Given the description of an element on the screen output the (x, y) to click on. 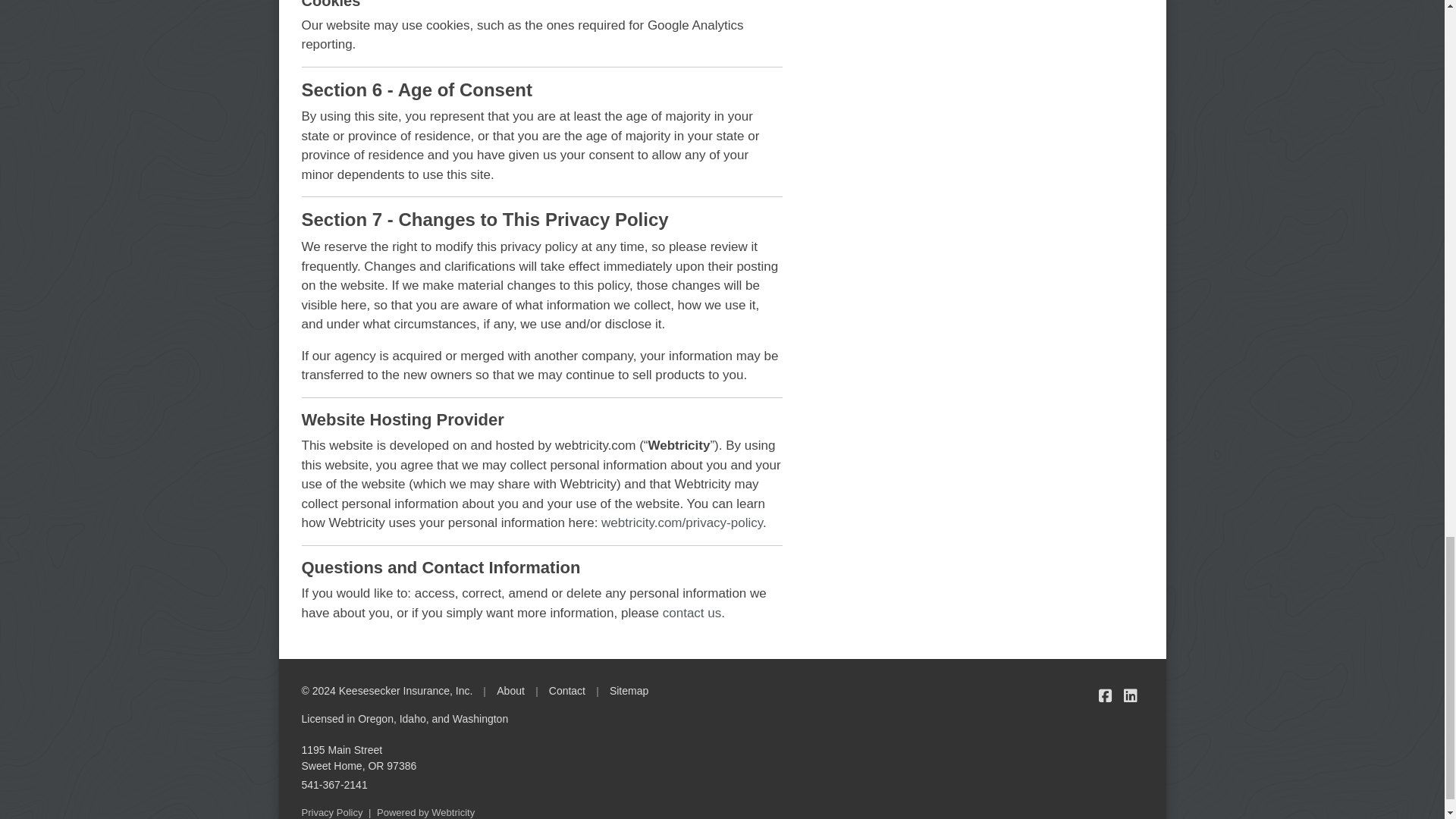
Sitemap (628, 691)
contact us (692, 612)
Keesecker Insurance on LinkedIn (1130, 694)
Keesecker Insurance on Facebook (1105, 694)
541-367-2141 (334, 785)
Privacy Policy (331, 812)
About (510, 691)
Contact (358, 757)
Powered by Webtricity (566, 691)
